Given the description of an element on the screen output the (x, y) to click on. 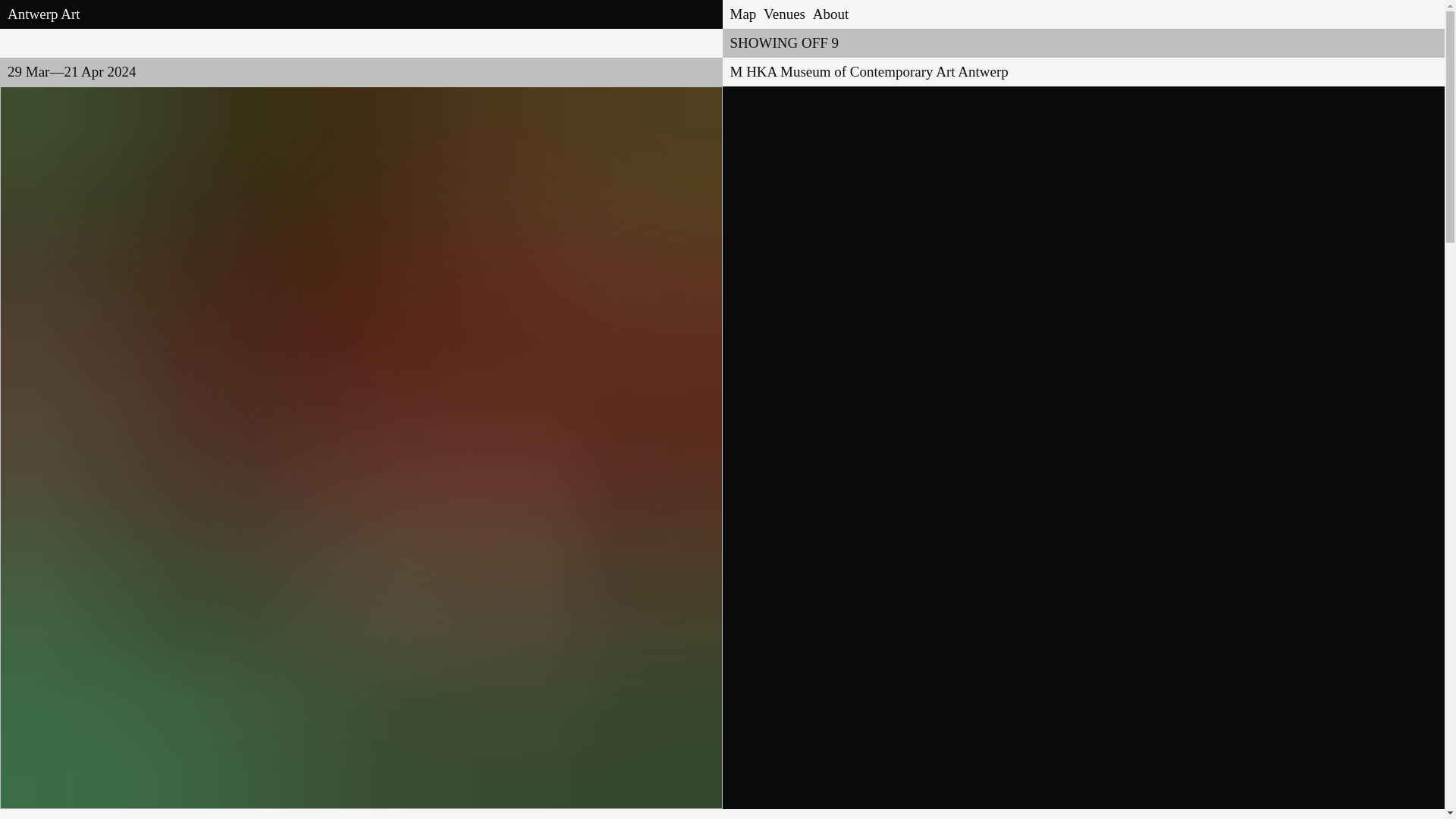
Antwerp Art (43, 14)
M HKA Museum of Contemporary Art Antwerp (868, 72)
About (829, 14)
Venues (784, 14)
Map (743, 14)
